Given the description of an element on the screen output the (x, y) to click on. 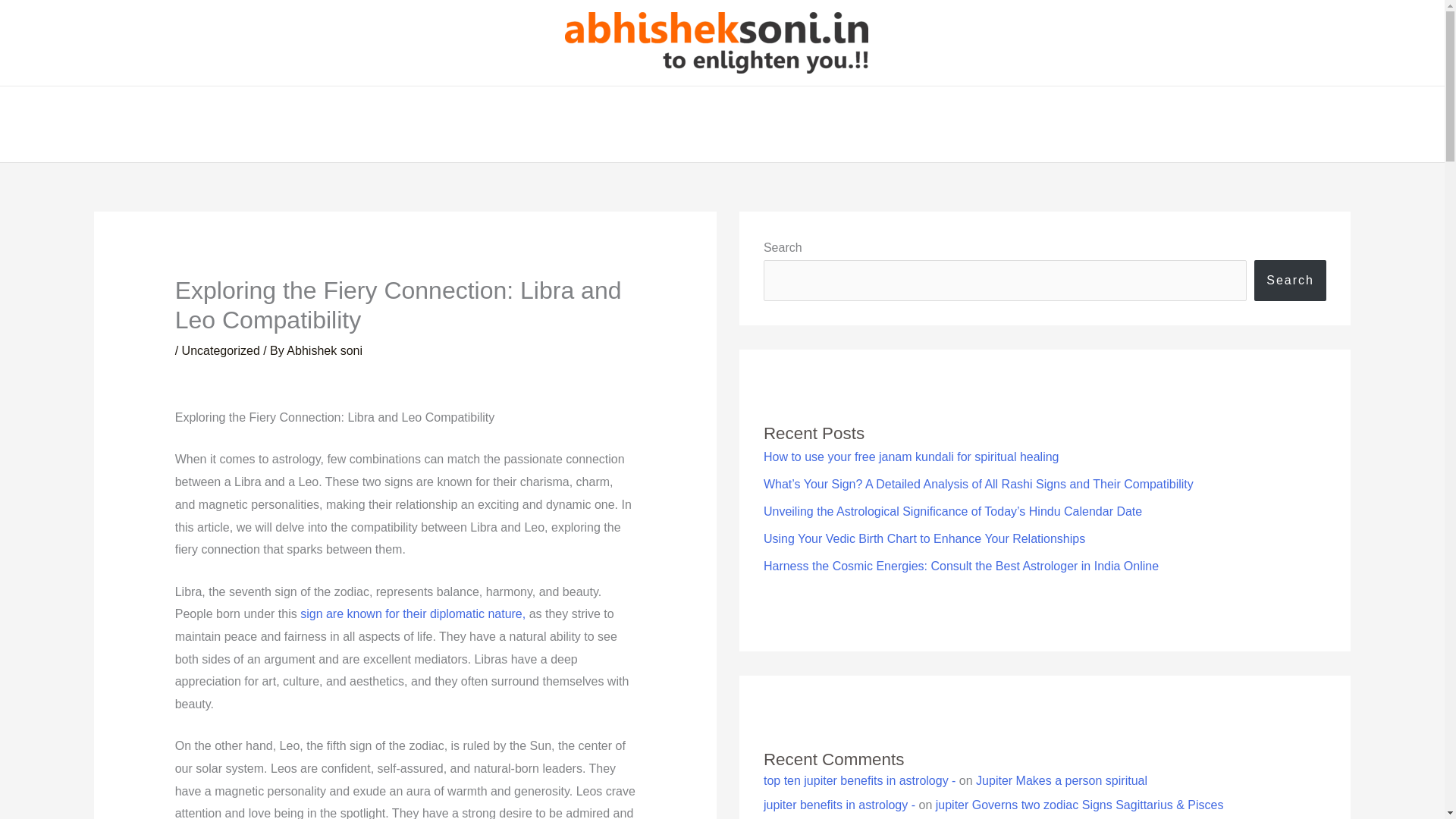
CONTACT US (940, 124)
Search (1289, 280)
sign are known for their diplomatic nature, (412, 613)
jupiter benefits in astrology - (838, 804)
View all posts by Abhishek soni (324, 350)
Jupiter Makes a person spiritual (1061, 780)
Pages (637, 124)
Uncategorized (221, 350)
BOOK APPOINTMENT  (812, 124)
